Given the description of an element on the screen output the (x, y) to click on. 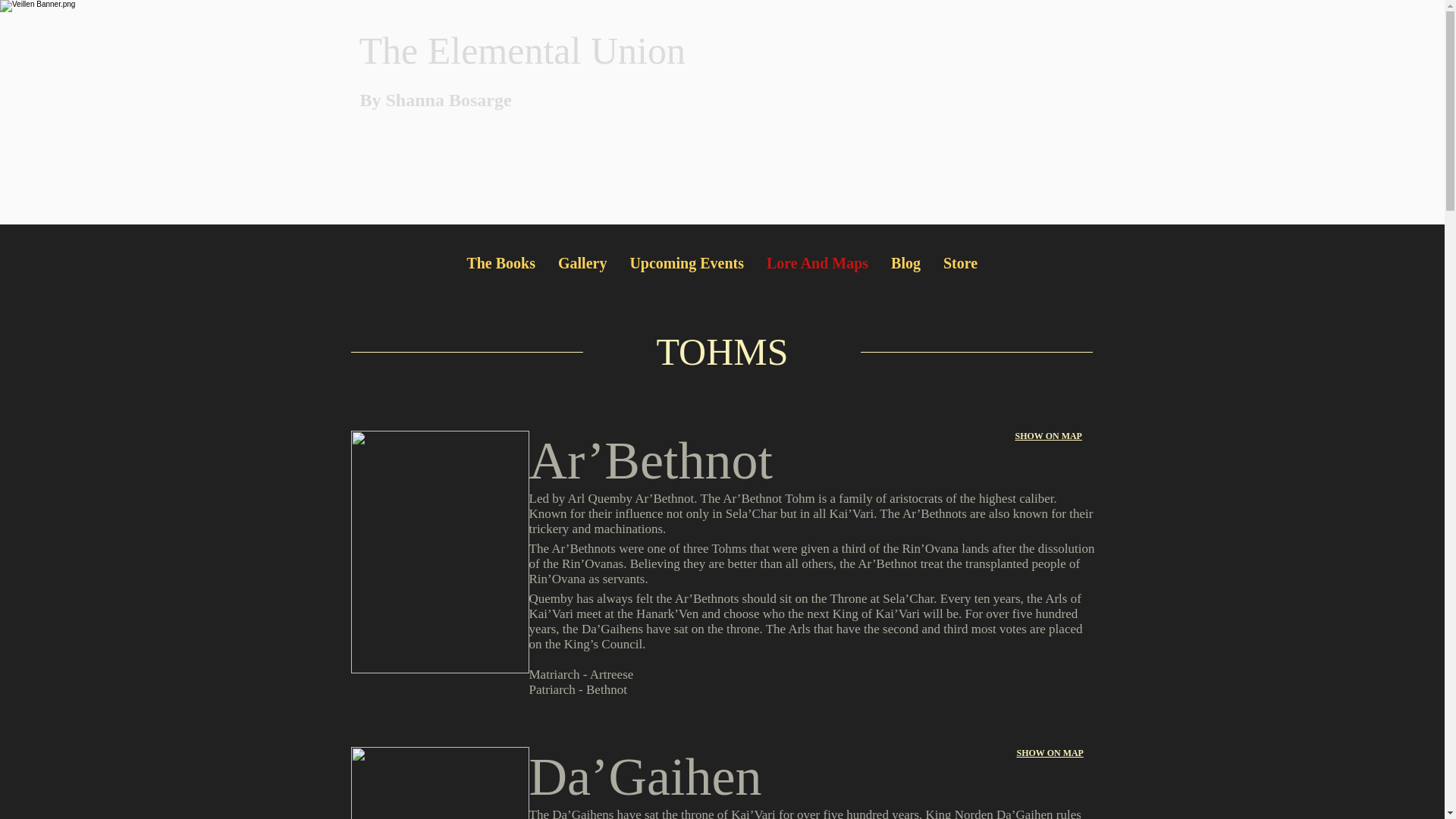
The Books (500, 263)
Upcoming Events (686, 263)
SHOW ON MAP (1049, 752)
Lore And Maps (817, 263)
SHOW ON MAP (1047, 435)
Gallery (582, 263)
